Given the description of an element on the screen output the (x, y) to click on. 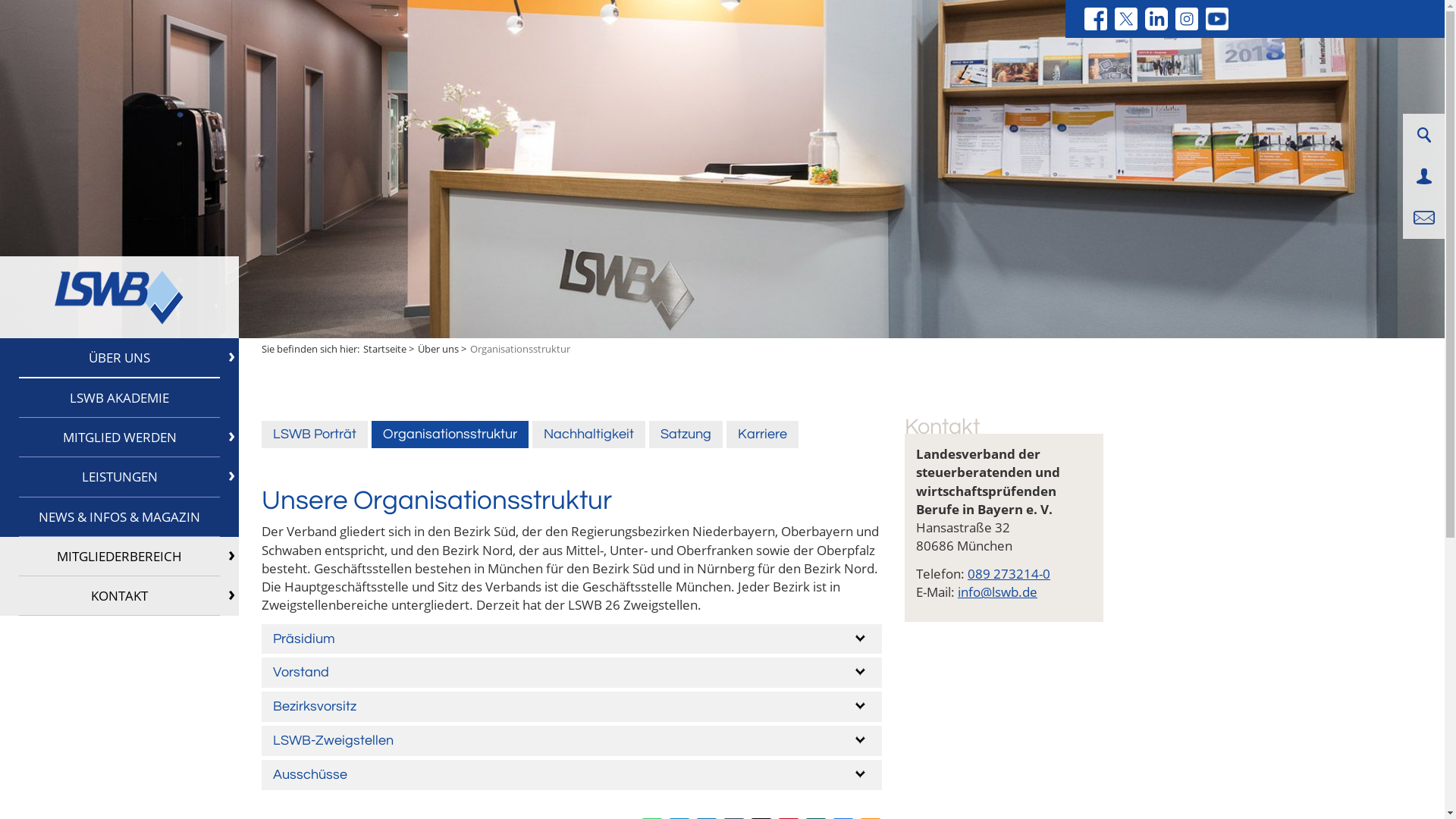
LSWB-Zweigstellen Element type: text (571, 740)
LSWB bei Twitter Element type: hover (1125, 18)
LSWB bei LinkedIn Element type: hover (1156, 18)
LSWB bei Youtube Element type: hover (1216, 18)
LEISTUNGEN Element type: text (119, 476)
LSWB Element type: hover (119, 296)
Satzung Element type: text (685, 434)
Suche Element type: hover (1423, 134)
LSWB bei Facebook Element type: hover (1095, 18)
NEWS & INFOS & MAGAZIN Element type: text (119, 516)
Login Element type: hover (1423, 176)
MITGLIED WERDEN Element type: text (119, 437)
info@lswb.de Element type: text (997, 591)
Organisationsstruktur Element type: text (449, 434)
Karriere Element type: text (762, 434)
MITGLIEDERBEREICH Element type: text (119, 556)
Startseite Element type: text (384, 348)
KONTAKT Element type: text (119, 595)
Vorstand Element type: text (571, 672)
LSWB bei Instagram Element type: hover (1186, 18)
089 273214-0 Element type: text (1008, 573)
LSWB AKADEMIE Element type: text (119, 397)
Bezirksvorsitz Element type: text (571, 706)
Nachhaltigkeit Element type: text (588, 434)
Kontakt Element type: hover (1423, 217)
